Given the description of an element on the screen output the (x, y) to click on. 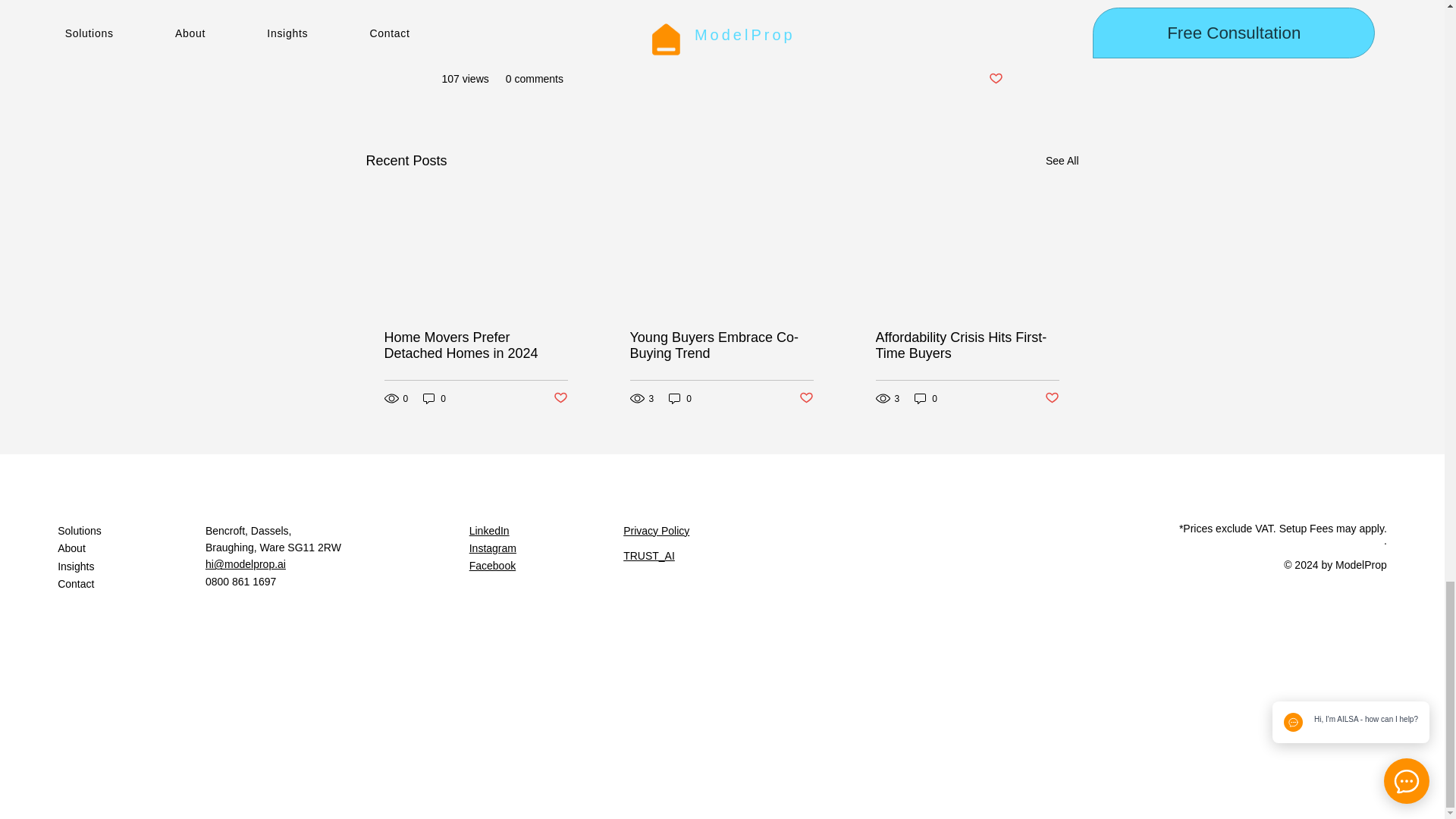
0 (925, 398)
Post not marked as liked (1052, 398)
Insights (131, 566)
Solutions (131, 531)
Property News (968, 33)
Contact (131, 584)
0 (434, 398)
See All (1061, 160)
Post not marked as liked (560, 398)
Post not marked as liked (995, 78)
Home Movers Prefer Detached Homes in 2024 (475, 345)
Post not marked as liked (806, 398)
Affordability Crisis Hits First-Time Buyers (966, 345)
Instagram (492, 548)
0 (679, 398)
